Given the description of an element on the screen output the (x, y) to click on. 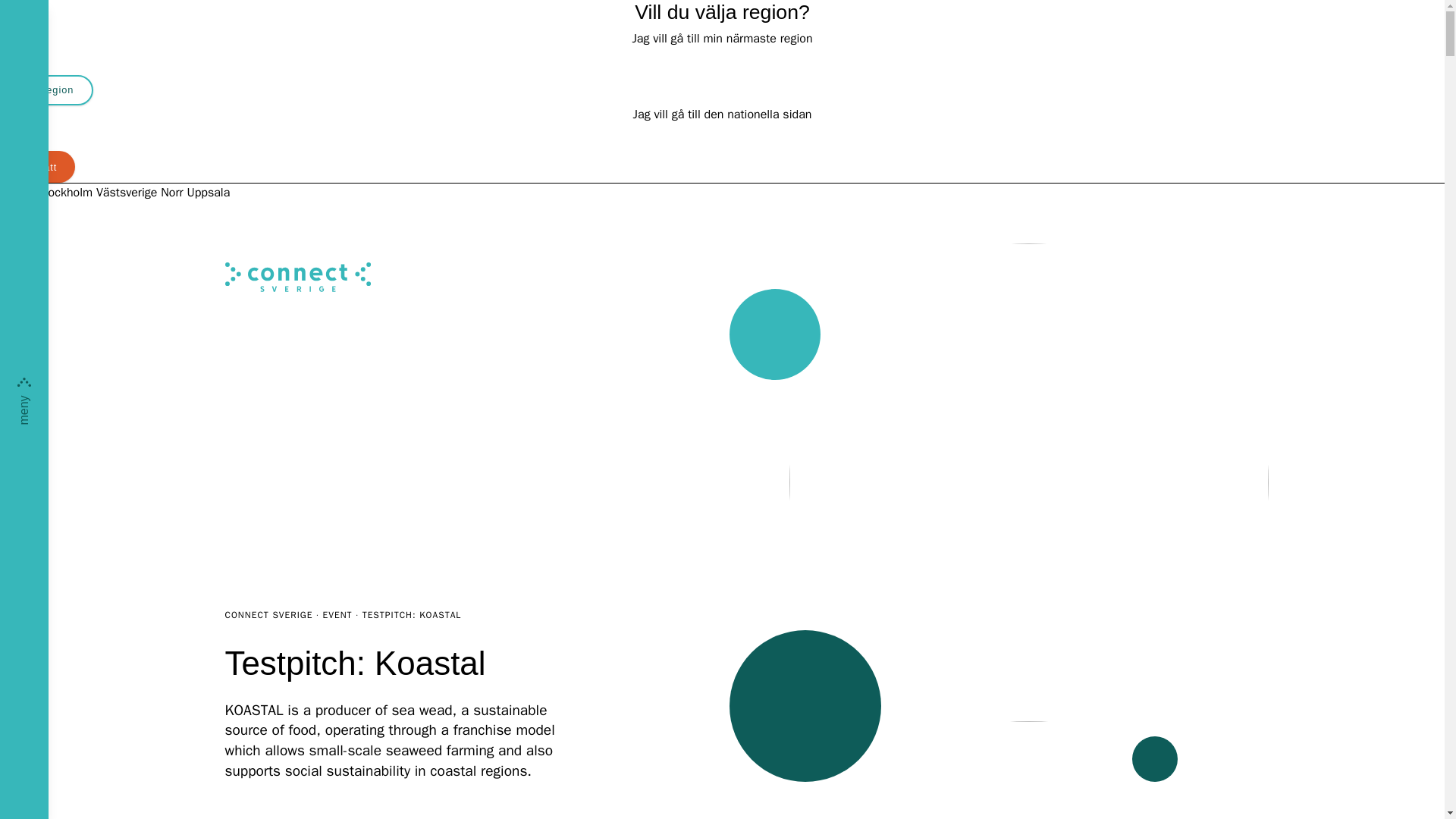
EVENT (337, 614)
Uppsala (208, 192)
Go to Connect Sverige (268, 614)
Stockholm (65, 192)
Norr (171, 192)
Event (337, 614)
CONNECT SVERIGE (268, 614)
